Given the description of an element on the screen output the (x, y) to click on. 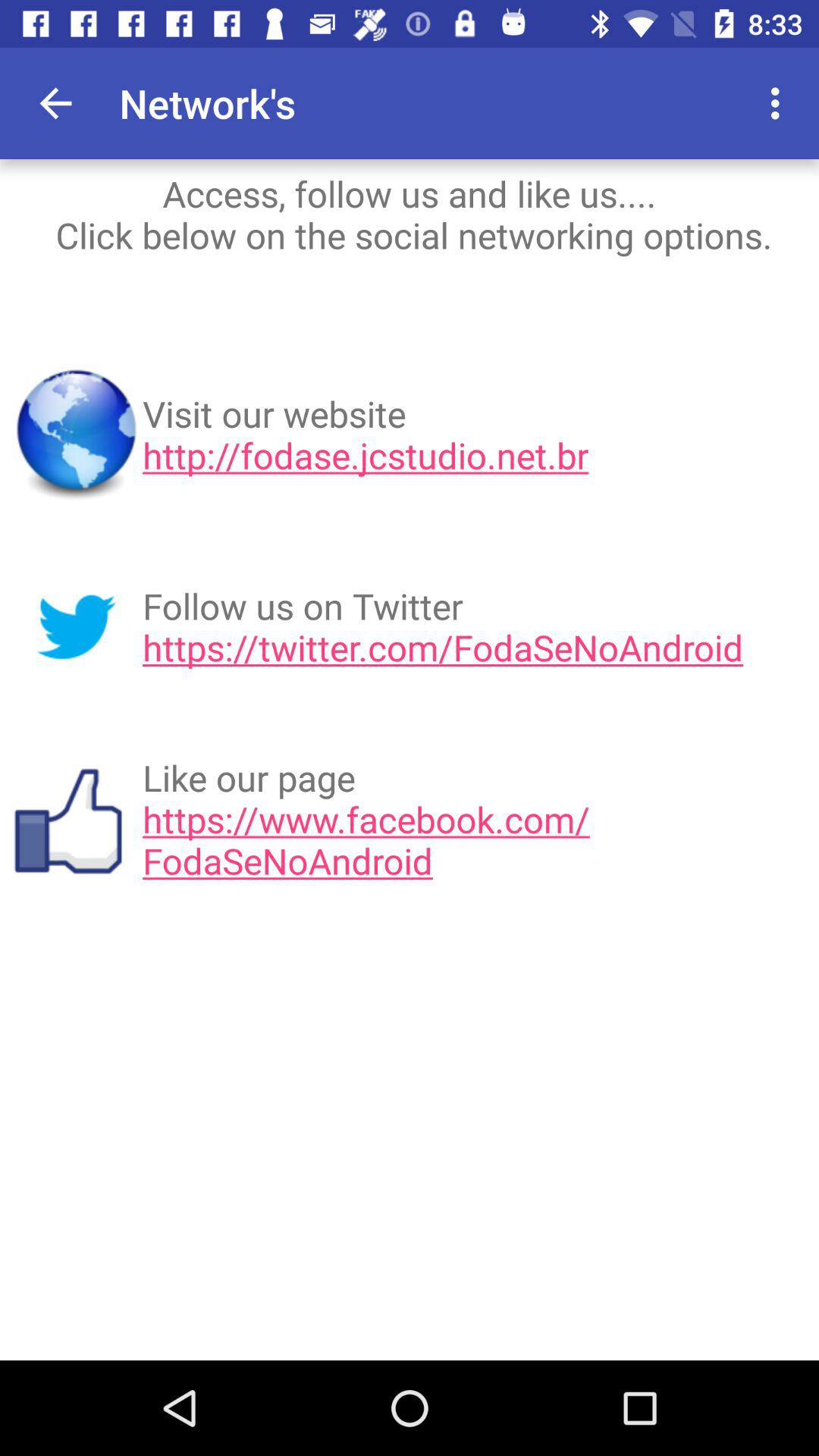
turn off item next to network's app (55, 103)
